Given the description of an element on the screen output the (x, y) to click on. 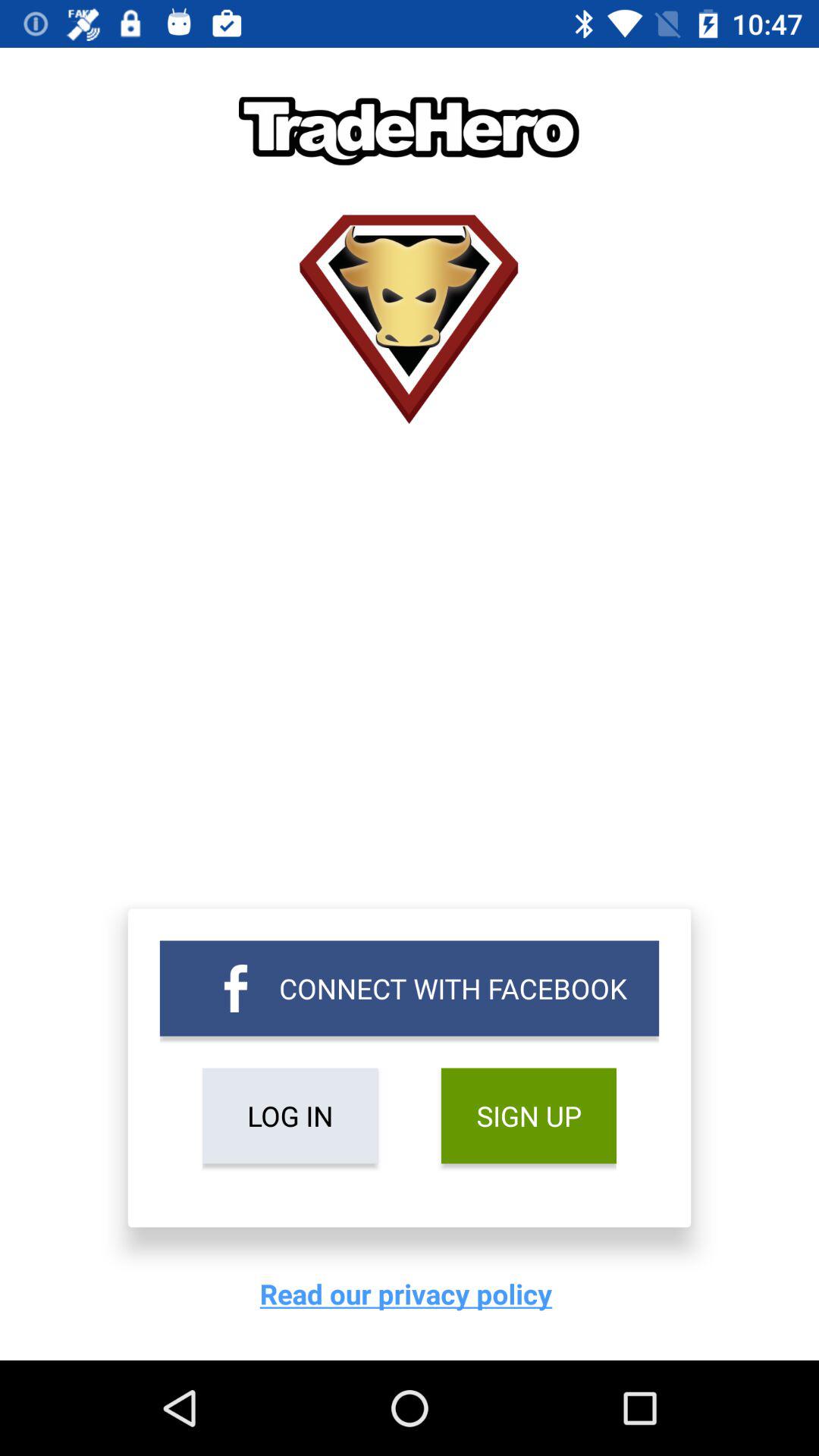
choose the log in (289, 1115)
